Given the description of an element on the screen output the (x, y) to click on. 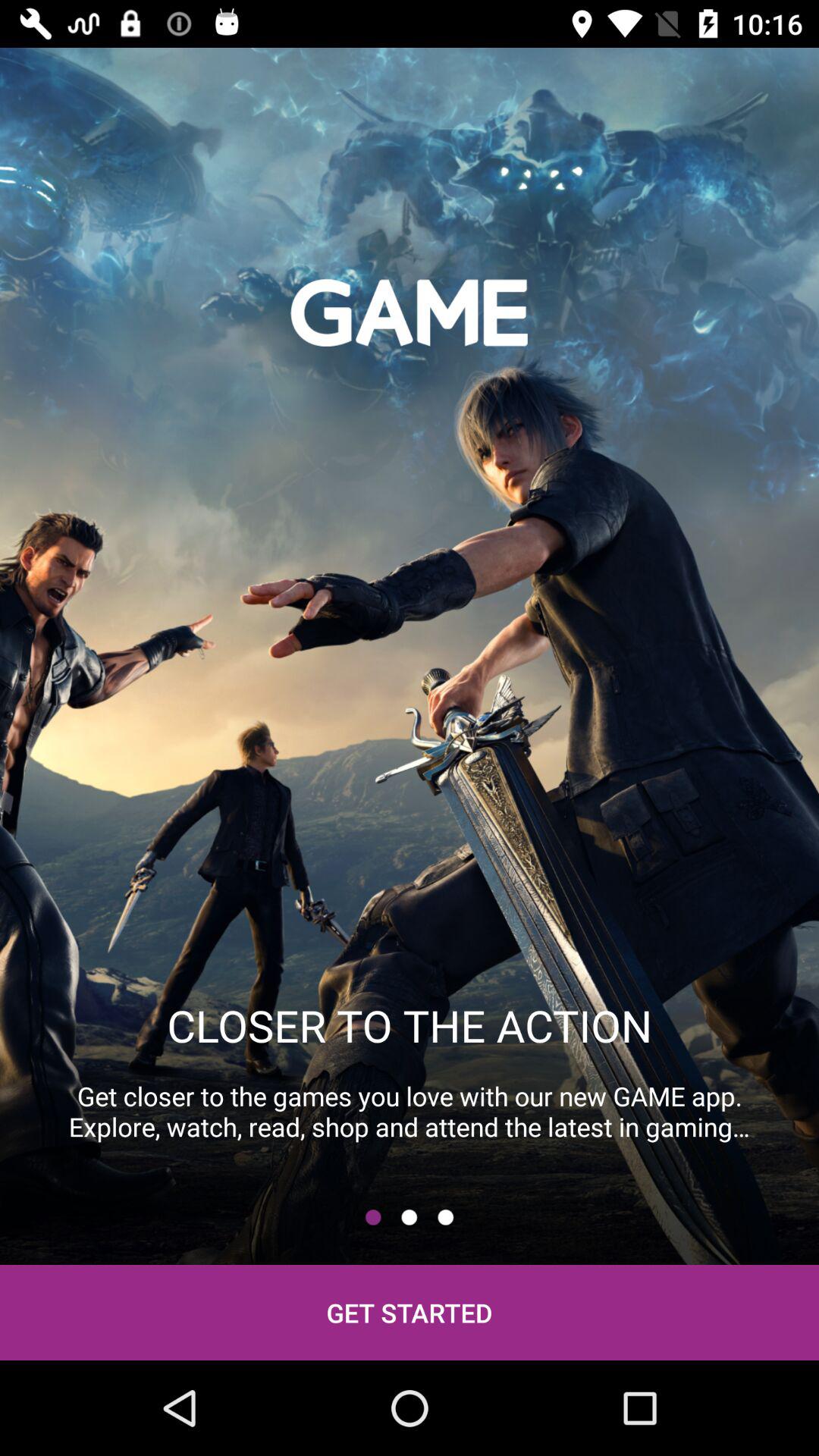
scroll to the get started icon (409, 1312)
